Given the description of an element on the screen output the (x, y) to click on. 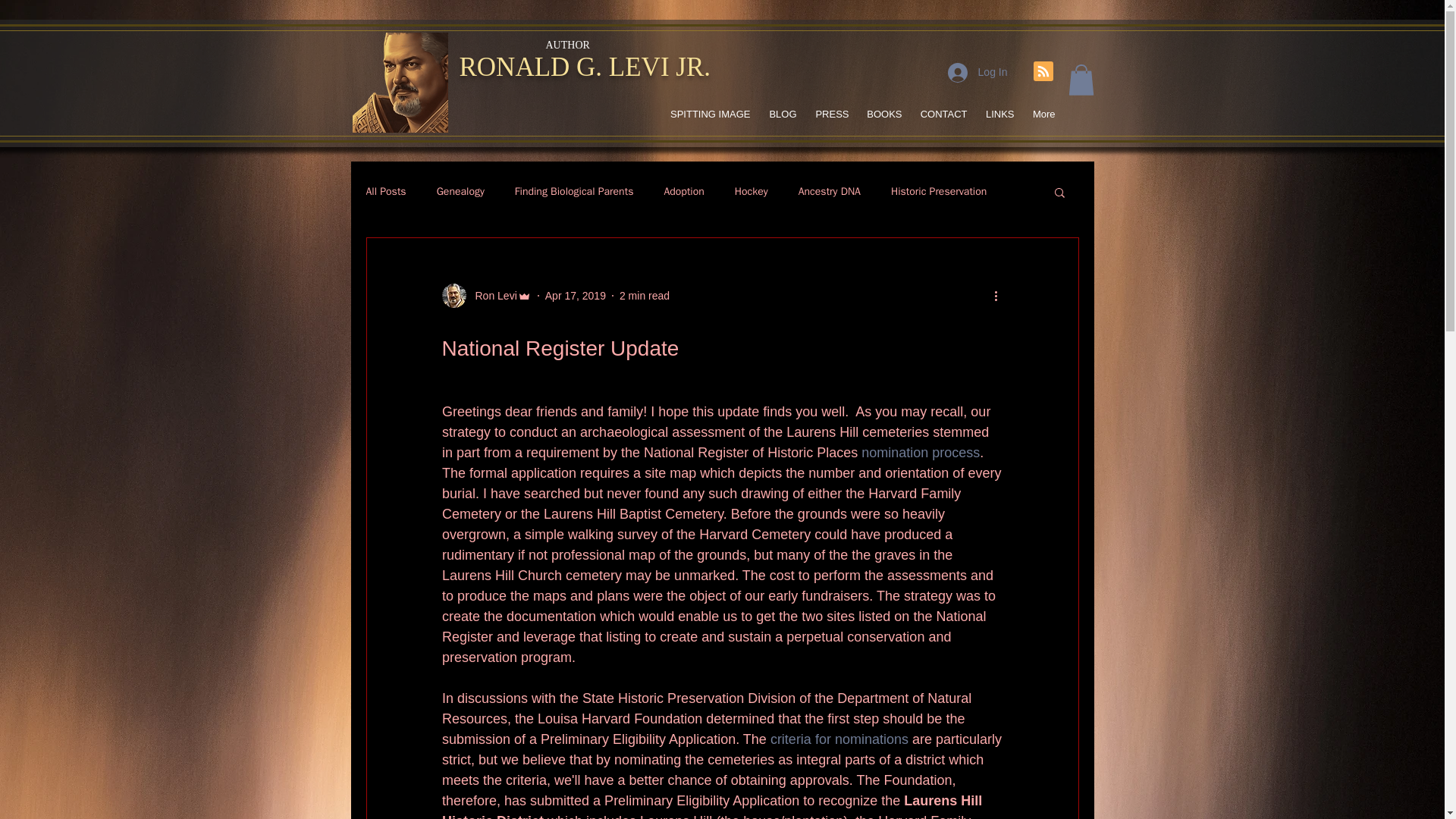
nomination process (920, 452)
Adoption (683, 192)
Finding Biological Parents (574, 192)
CONTACT (942, 114)
Apr 17, 2019 (574, 295)
Ron Levi (490, 295)
Ancestry DNA (828, 192)
BLOG (781, 114)
criteria for nominations (838, 739)
Genealogy (460, 192)
